Given the description of an element on the screen output the (x, y) to click on. 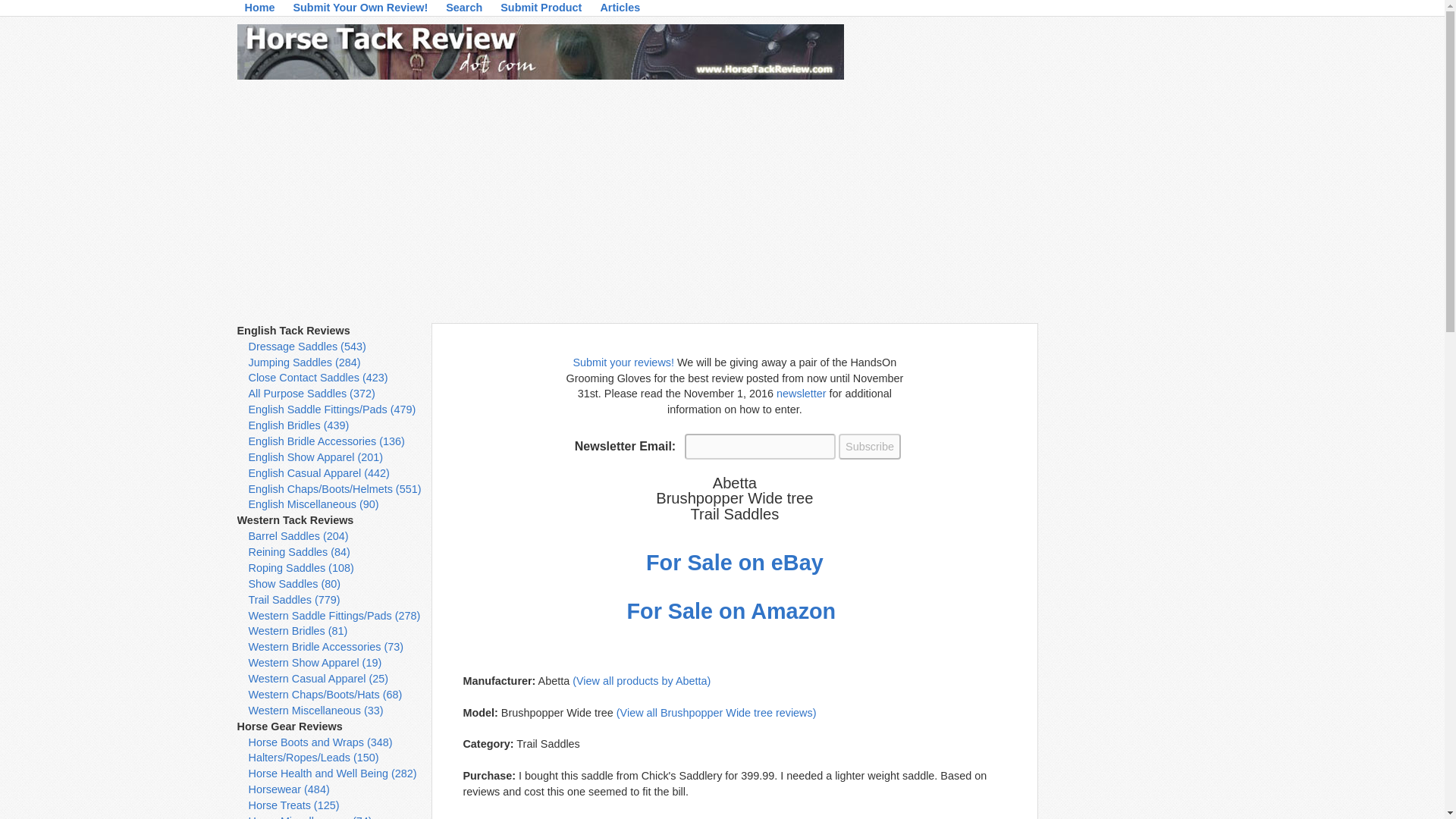
Search (463, 10)
Submit Your Own Review! (360, 10)
Submit Product (541, 10)
Articles (619, 10)
Home (258, 10)
Subscribe (869, 446)
